Given the description of an element on the screen output the (x, y) to click on. 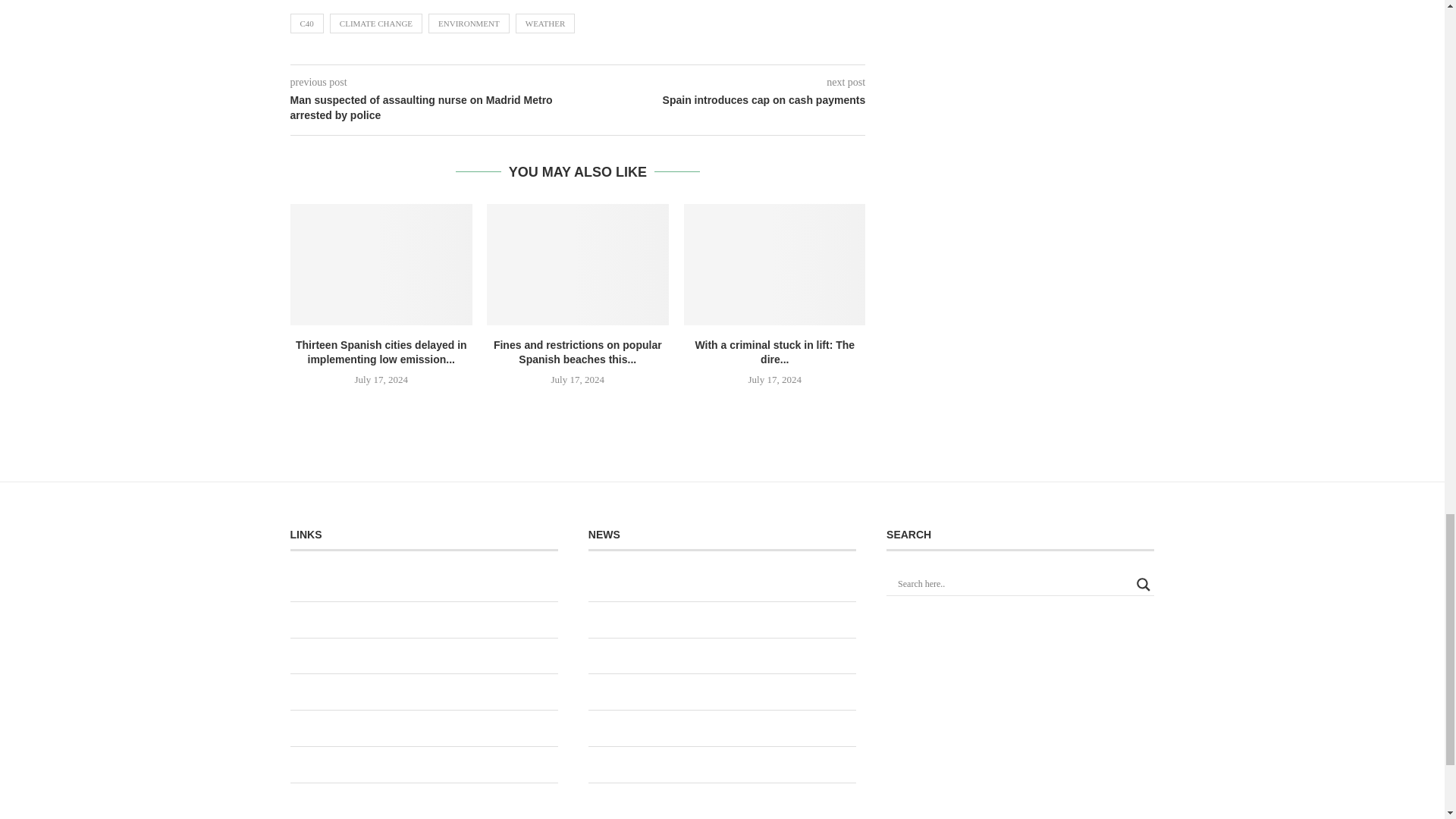
CLIMATE CHANGE (376, 23)
C40 (306, 23)
ENVIRONMENT (468, 23)
